Given the description of an element on the screen output the (x, y) to click on. 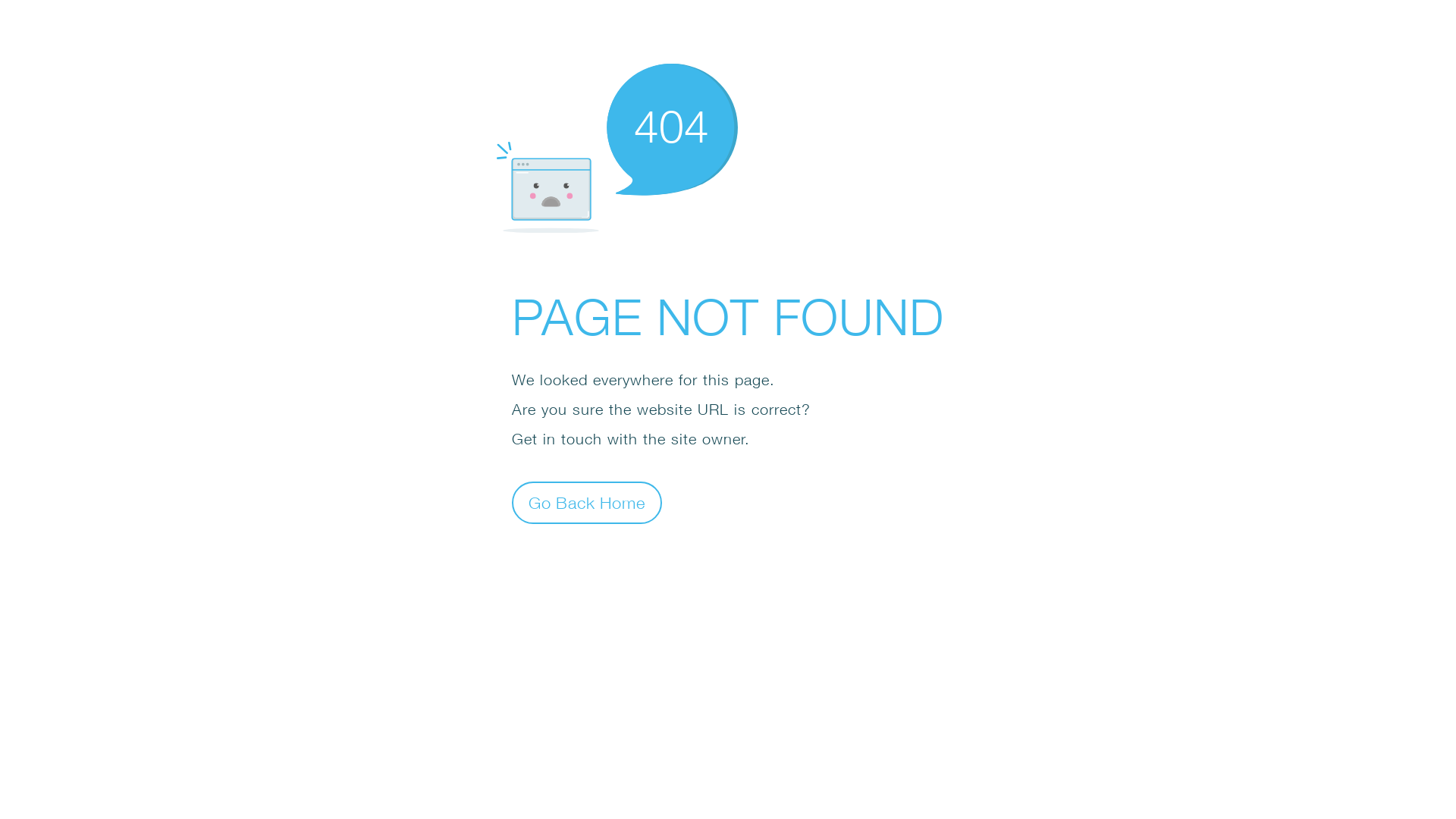
Go Back Home Element type: text (586, 502)
